Given the description of an element on the screen output the (x, y) to click on. 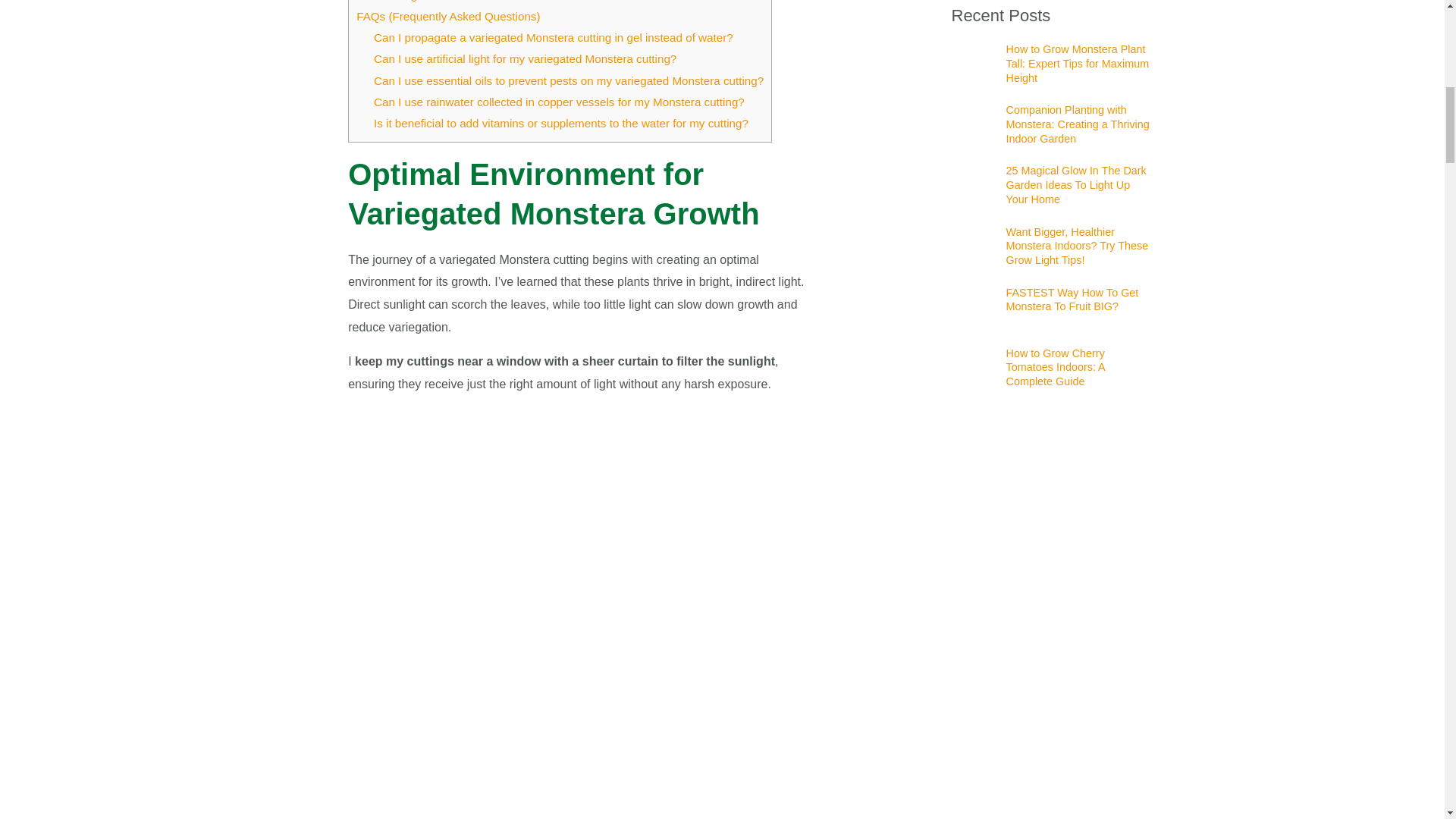
Final Thought (391, 0)
